Given the description of an element on the screen output the (x, y) to click on. 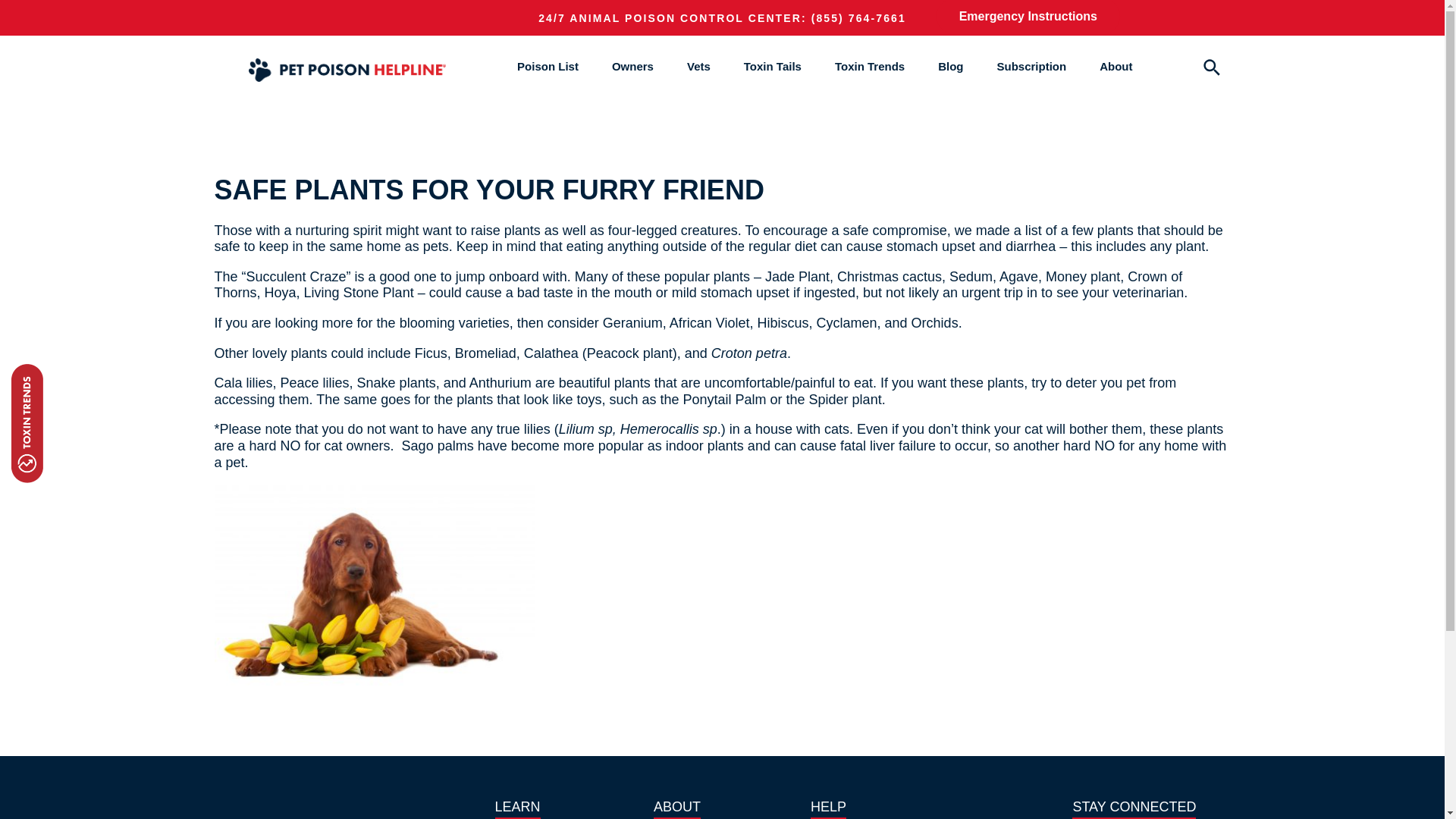
Blog (949, 65)
About (1115, 65)
Toxin Trends (869, 65)
Subscription (1030, 65)
Toxin Tails (773, 65)
Owners (632, 65)
Emergency Instructions (1027, 17)
Poison List (547, 65)
Vets (698, 65)
